Given the description of an element on the screen output the (x, y) to click on. 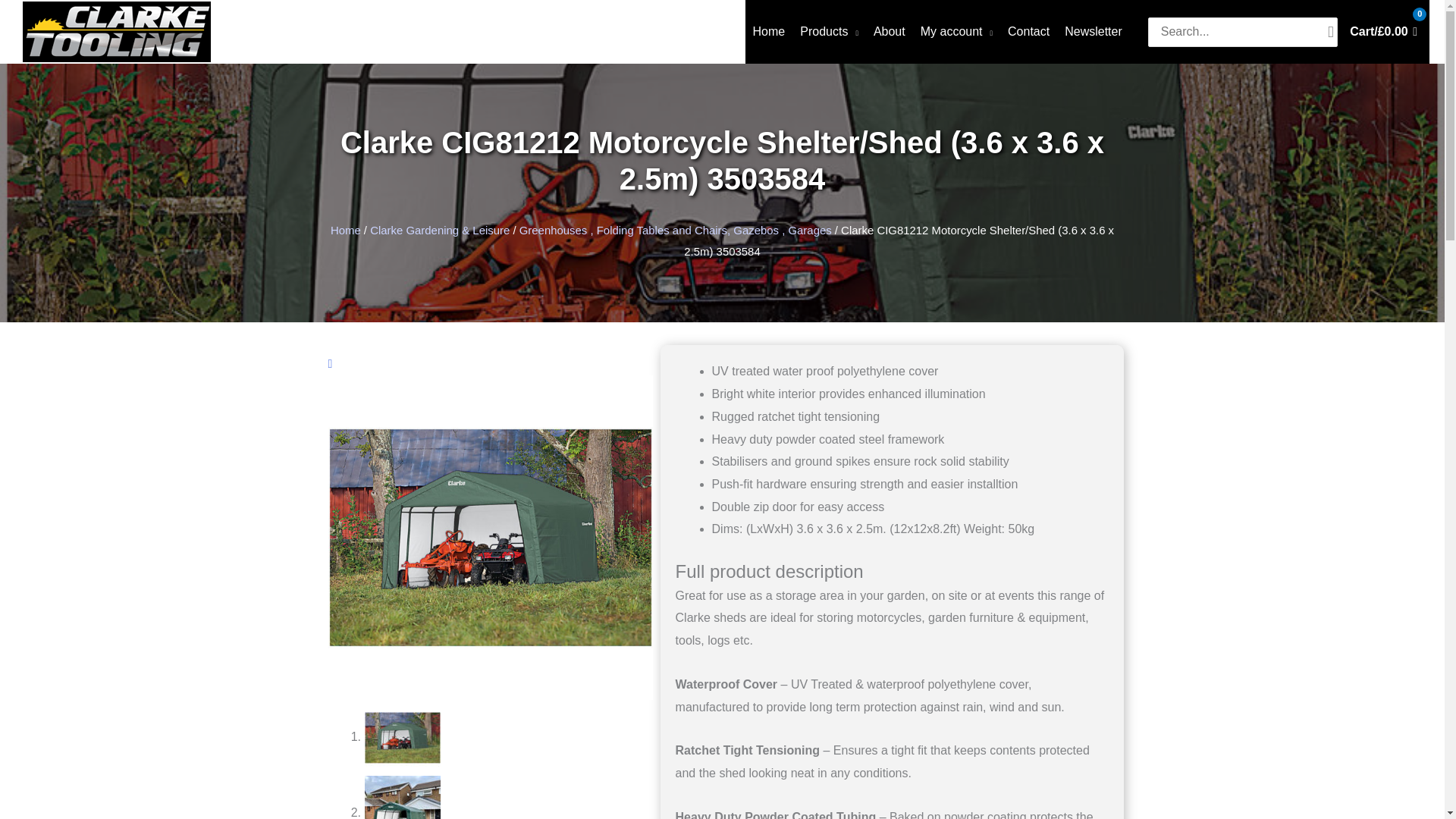
Newsletter (1093, 31)
Home (345, 229)
About (889, 31)
Contact (1028, 31)
Shelter Logic (489, 537)
My account (956, 31)
Home (769, 31)
Products (829, 31)
Greenhouses , Folding Tables and Chairs, Gazebos , Garages (675, 229)
Search (1330, 31)
